Given the description of an element on the screen output the (x, y) to click on. 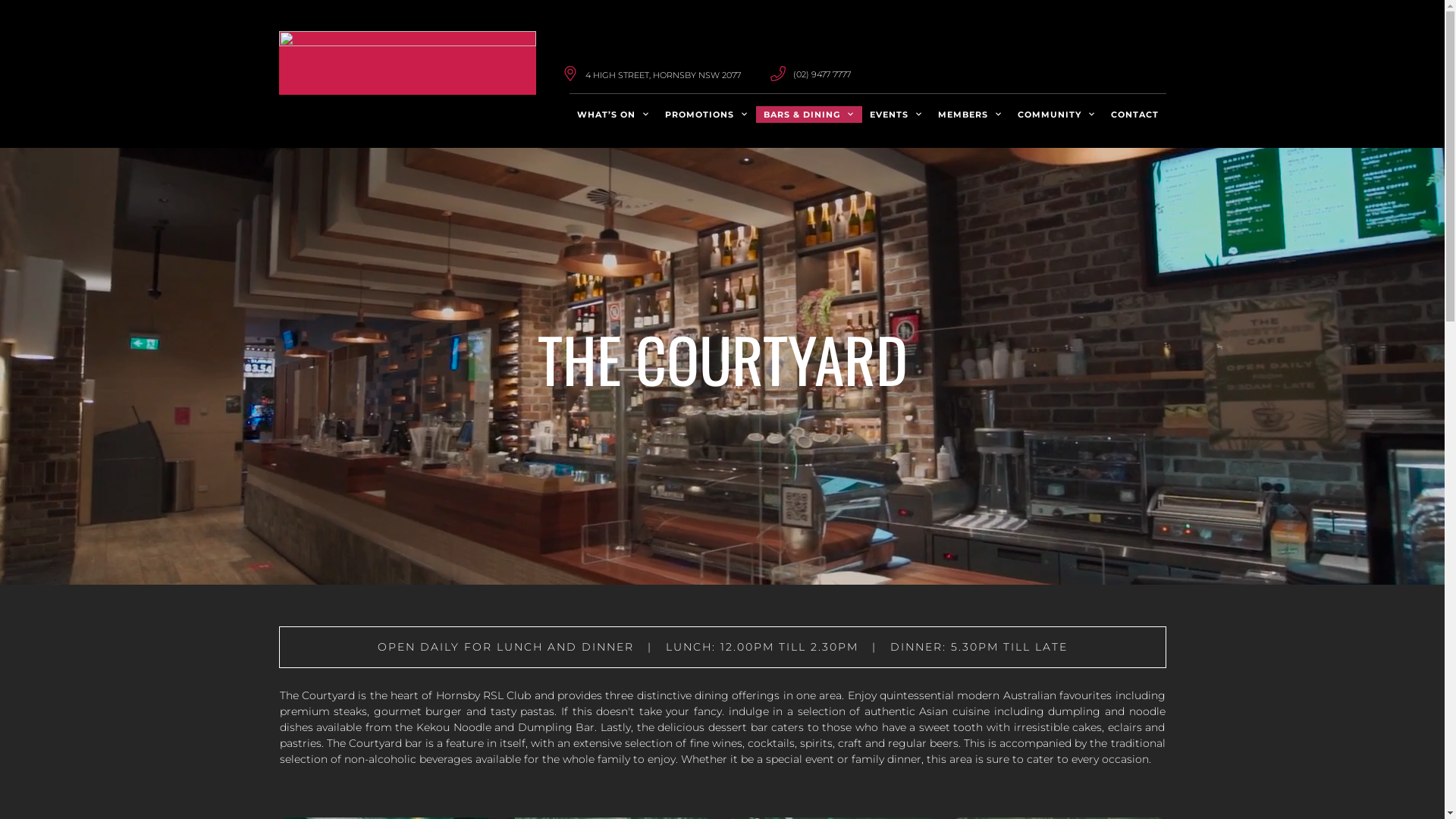
CONTACT Element type: text (1133, 114)
MEMBERS Element type: text (969, 114)
PROMOTIONS Element type: text (705, 114)
EVENTS Element type: text (895, 114)
COMMUNITY Element type: text (1056, 114)
logo Element type: hover (407, 62)
BARS & DINING Element type: text (808, 114)
